Given the description of an element on the screen output the (x, y) to click on. 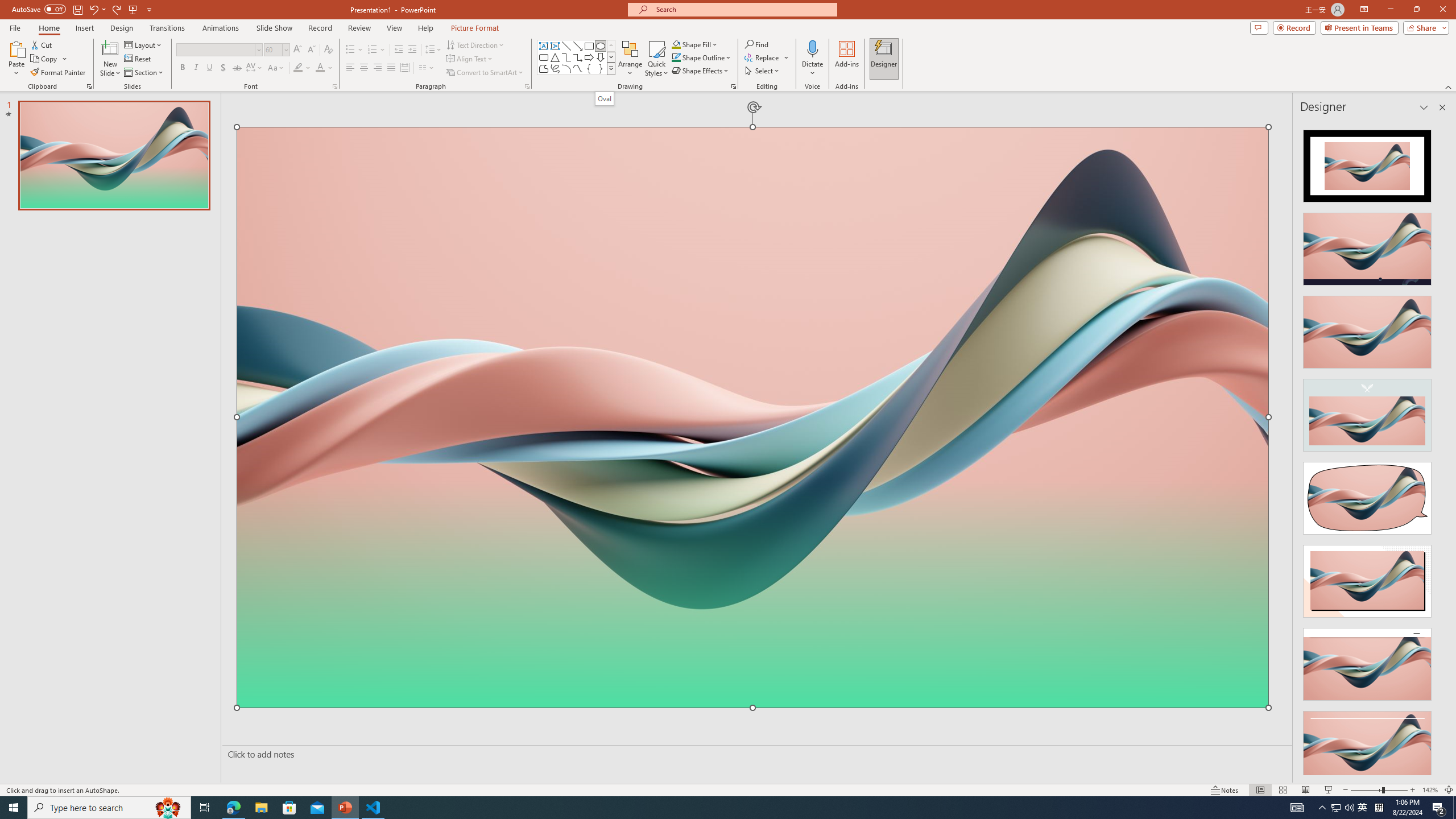
Wavy 3D art (752, 417)
